Given the description of an element on the screen output the (x, y) to click on. 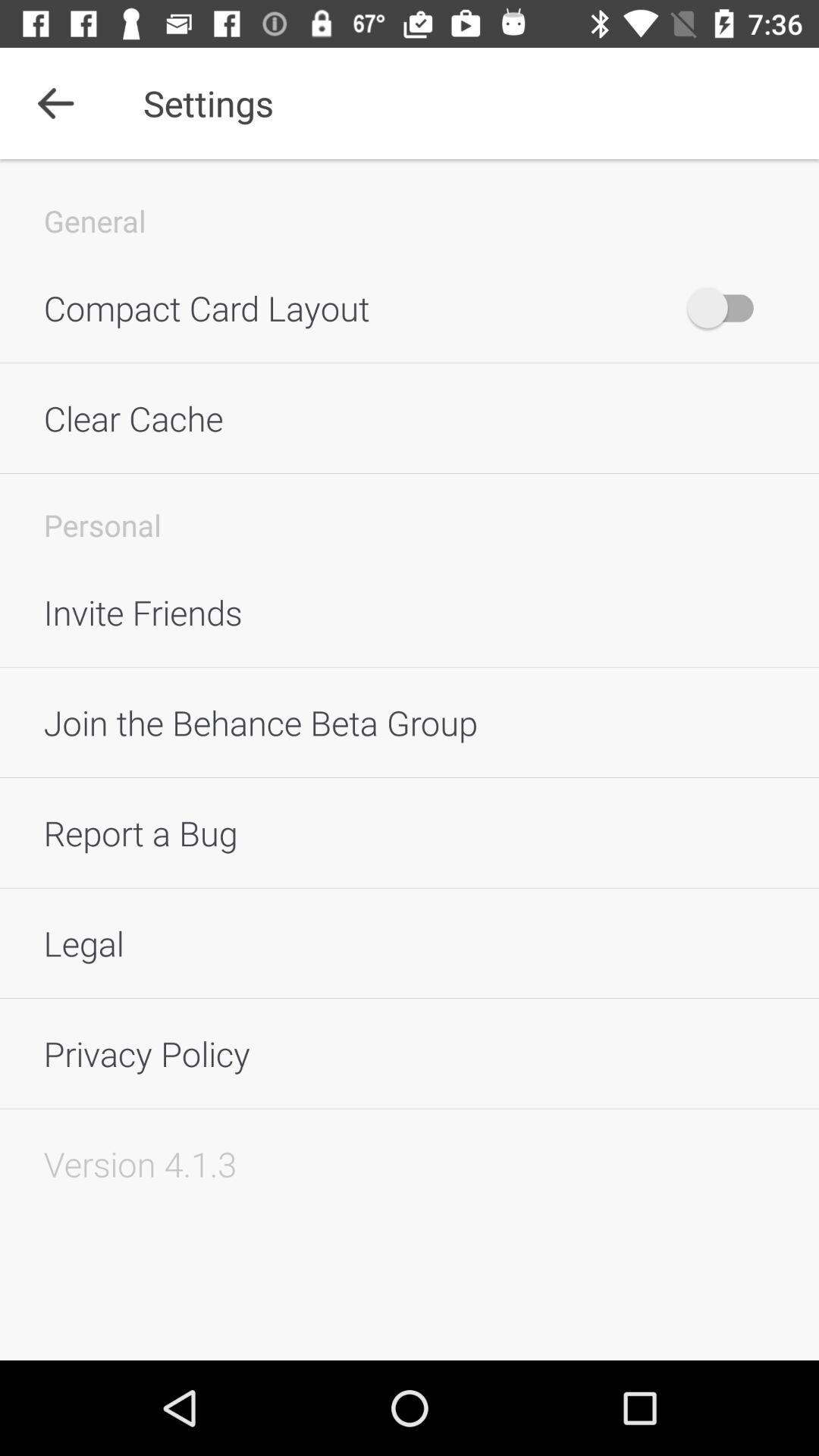
jump to join the behance icon (409, 722)
